Given the description of an element on the screen output the (x, y) to click on. 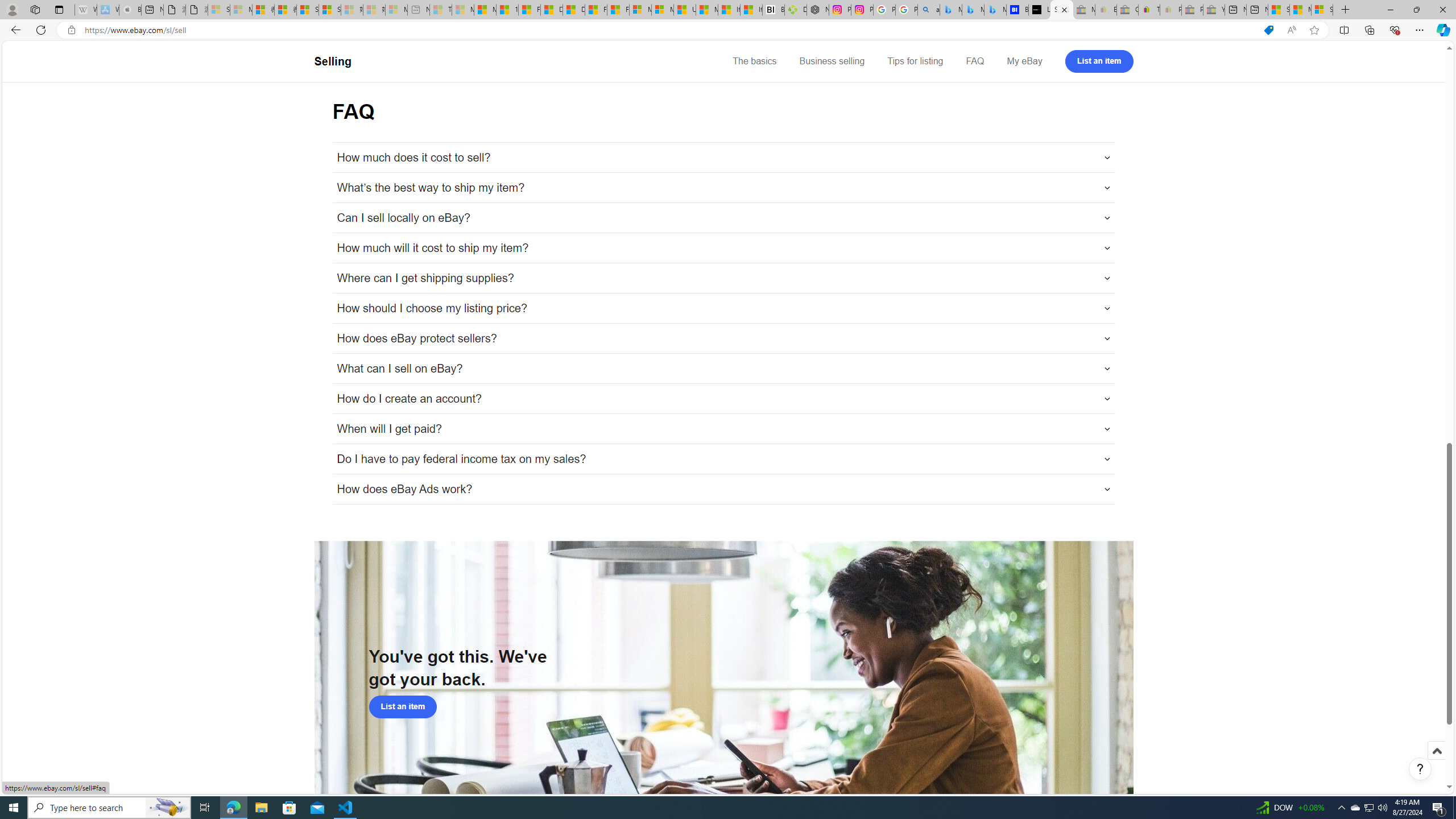
US Heat Deaths Soared To Record High Last Year (684, 9)
Business selling (831, 60)
Help, opens dialogs (1420, 768)
Shanghai, China hourly forecast | Microsoft Weather (1278, 9)
New tab - Sleeping (418, 9)
How does eBay Ads work? (723, 489)
Top Stories - MSN - Sleeping (441, 9)
Marine life - MSN - Sleeping (462, 9)
